Given the description of an element on the screen output the (x, y) to click on. 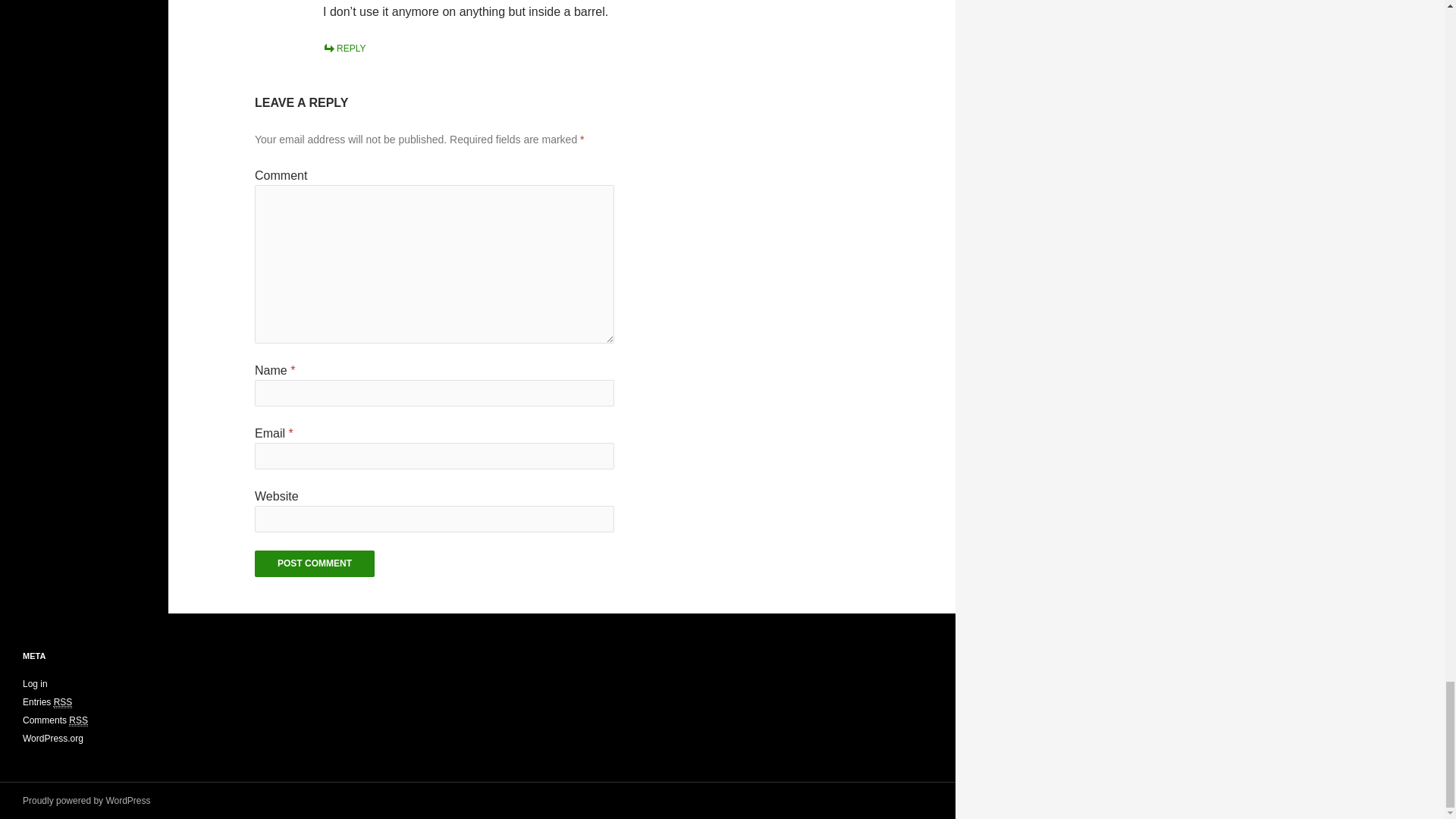
Post Comment (314, 563)
Really Simple Syndication (62, 702)
Really Simple Syndication (77, 720)
